Given the description of an element on the screen output the (x, y) to click on. 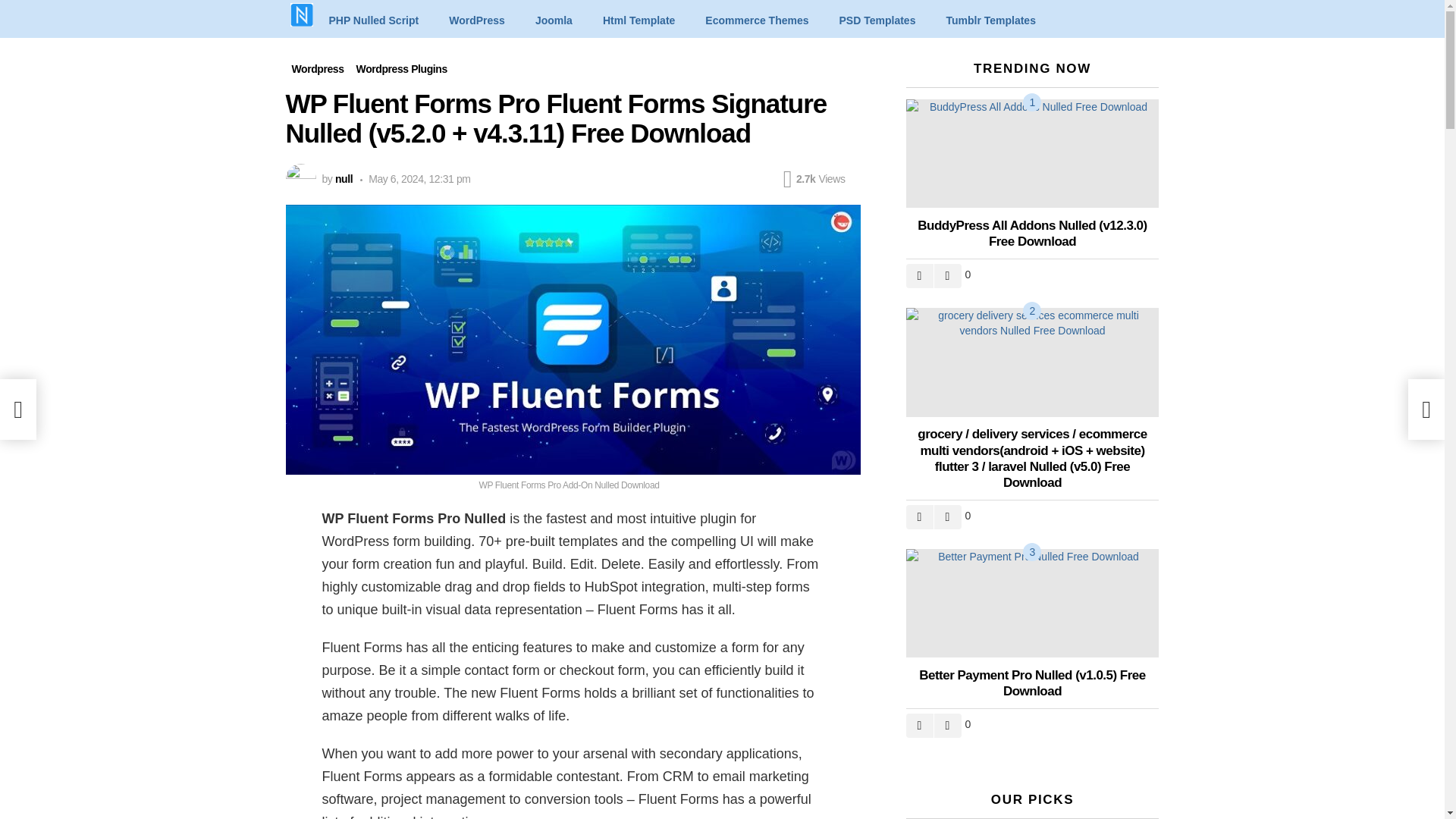
Wordpress (317, 68)
PSD Templates (877, 20)
WordPress (476, 20)
Posts by null (343, 178)
Wordpress Plugins (401, 68)
Html Template (639, 20)
Joomla (553, 20)
PHP Nulled Script (373, 20)
Ecommerce Themes (757, 20)
Tumblr Templates (990, 20)
